Given the description of an element on the screen output the (x, y) to click on. 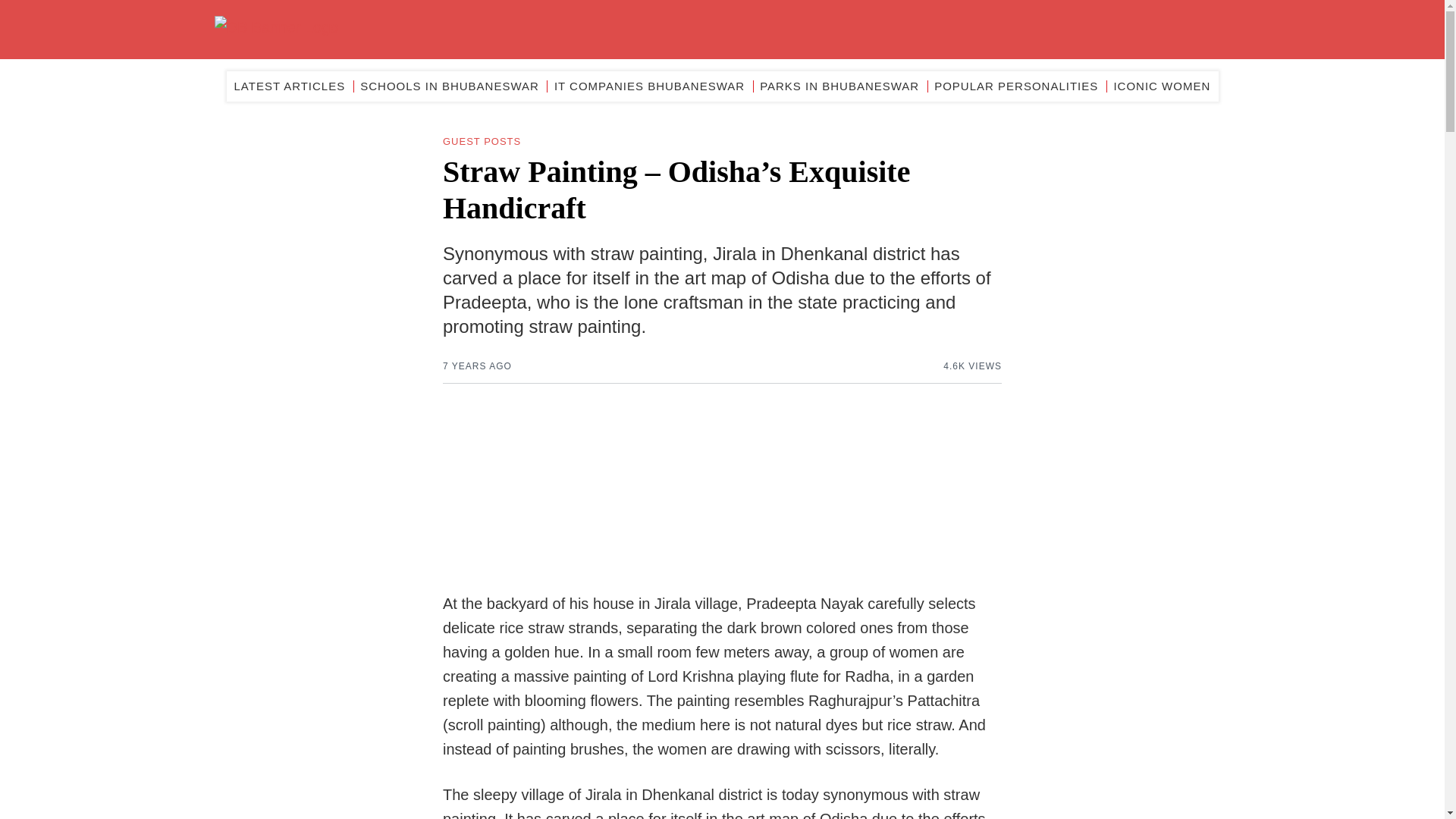
PARKS IN BHUBANESWAR (839, 86)
SCHOOLS IN BHUBANESWAR (448, 86)
IT COMPANIES BHUBANESWAR (649, 86)
POPULAR PERSONALITIES (1015, 86)
ICONIC WOMEN (1161, 86)
LATEST ARTICLES (288, 86)
GUEST POSTS (481, 141)
